Given the description of an element on the screen output the (x, y) to click on. 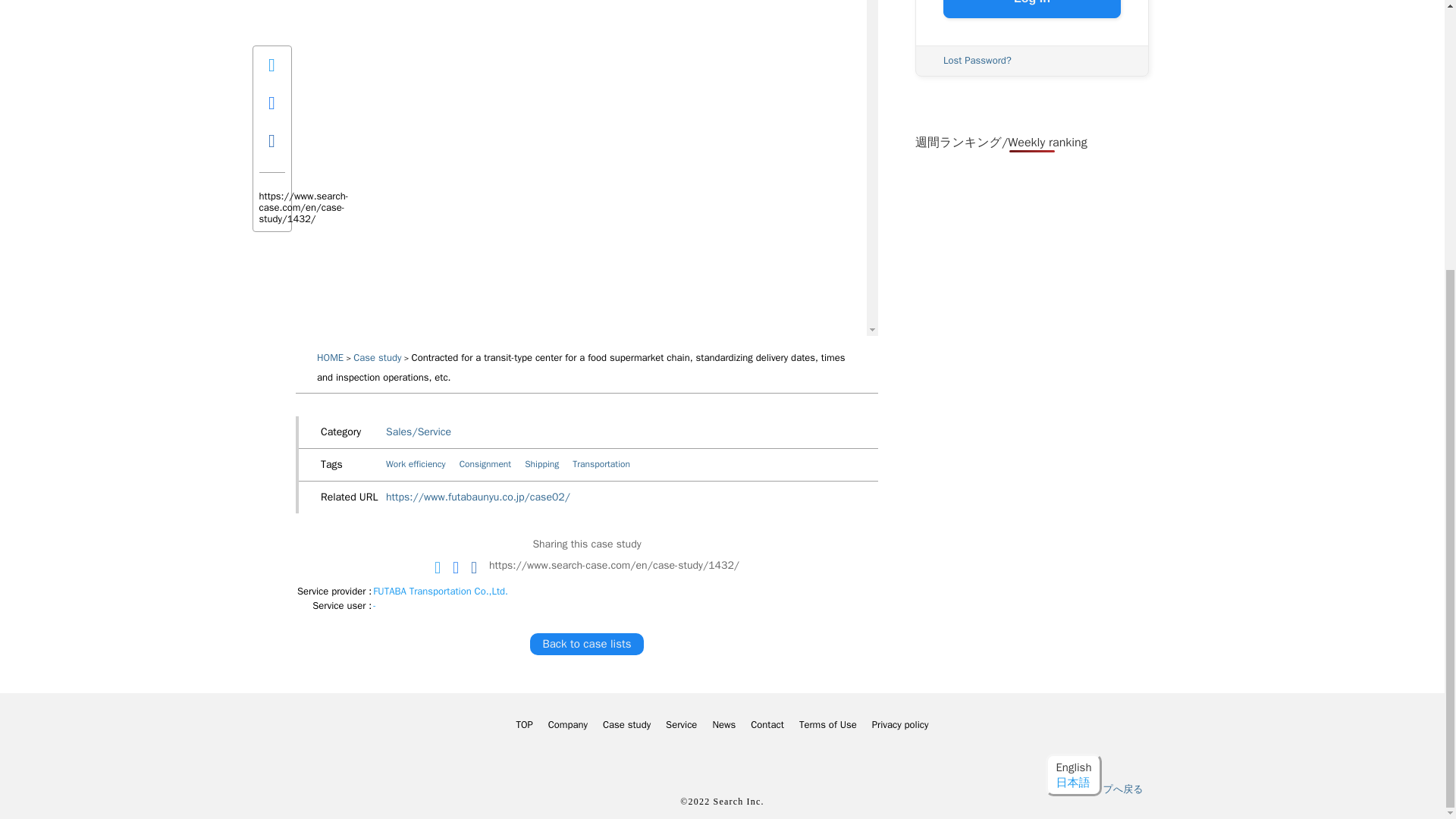
Go to Case study. (377, 357)
Log In (1032, 9)
Japanese (1072, 388)
English (1072, 373)
Go to Search. (330, 357)
English (1072, 373)
